Given the description of an element on the screen output the (x, y) to click on. 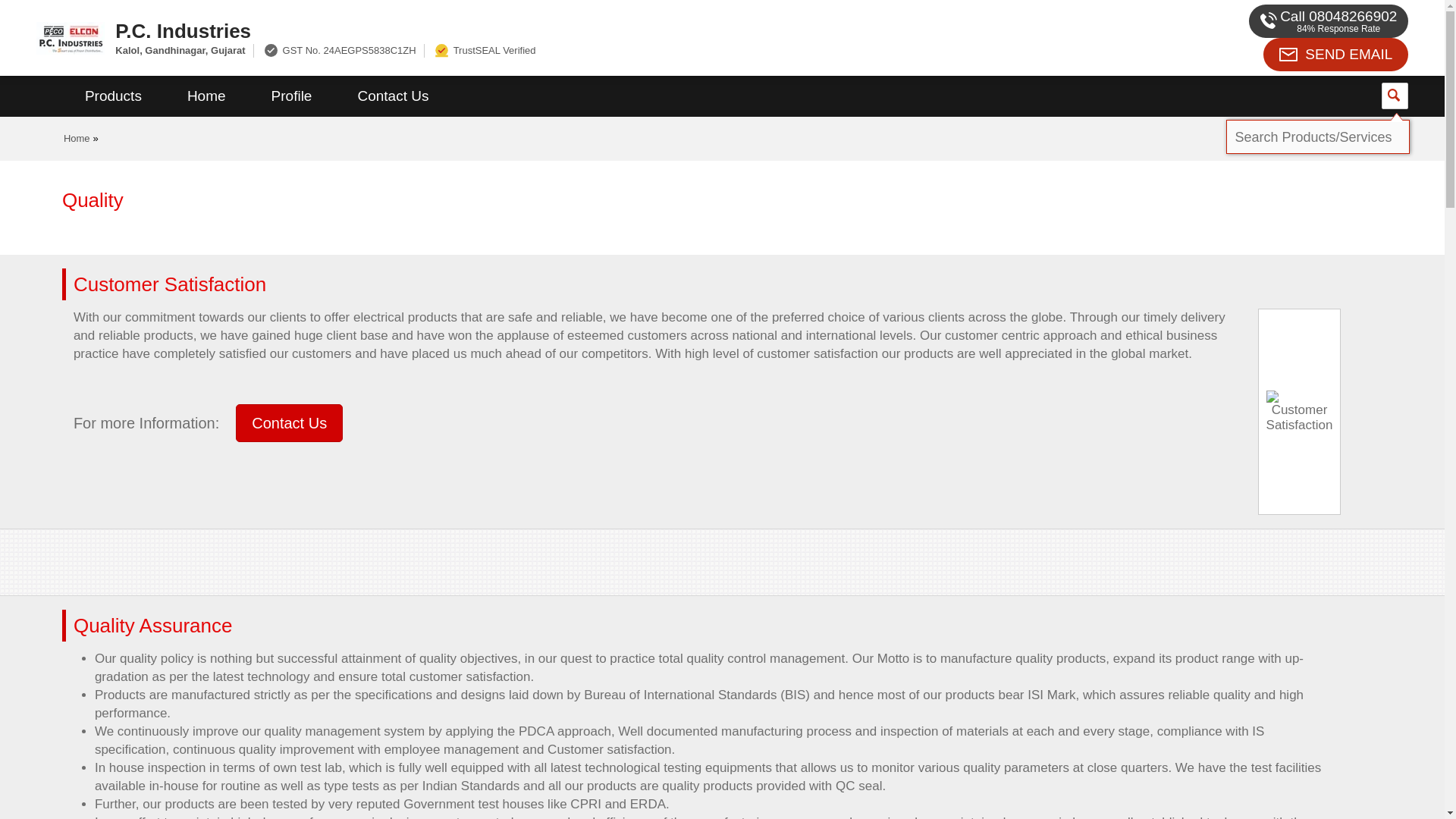
Products (113, 96)
Profile (291, 96)
Home (206, 96)
P.C. Industries (552, 31)
